Given the description of an element on the screen output the (x, y) to click on. 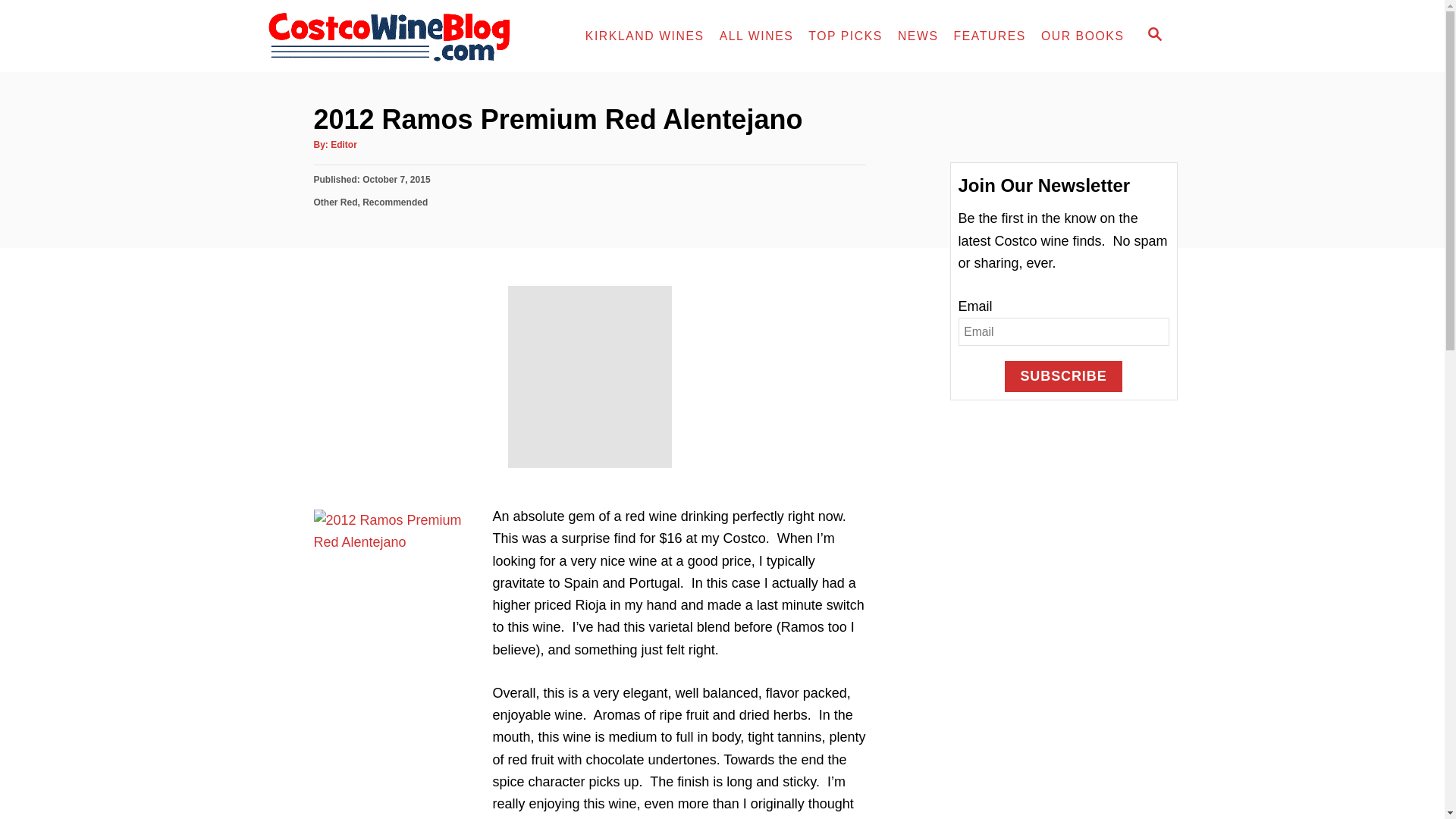
TOP PICKS (844, 36)
FEATURES (988, 36)
Other Red (336, 202)
Editor (343, 144)
SEARCH (1154, 35)
Recommended (395, 202)
CostcoWineBlog.com (400, 36)
NEWS (917, 36)
OUR BOOKS (1082, 36)
KIRKLAND WINES (644, 36)
ALL WINES (756, 36)
